Given the description of an element on the screen output the (x, y) to click on. 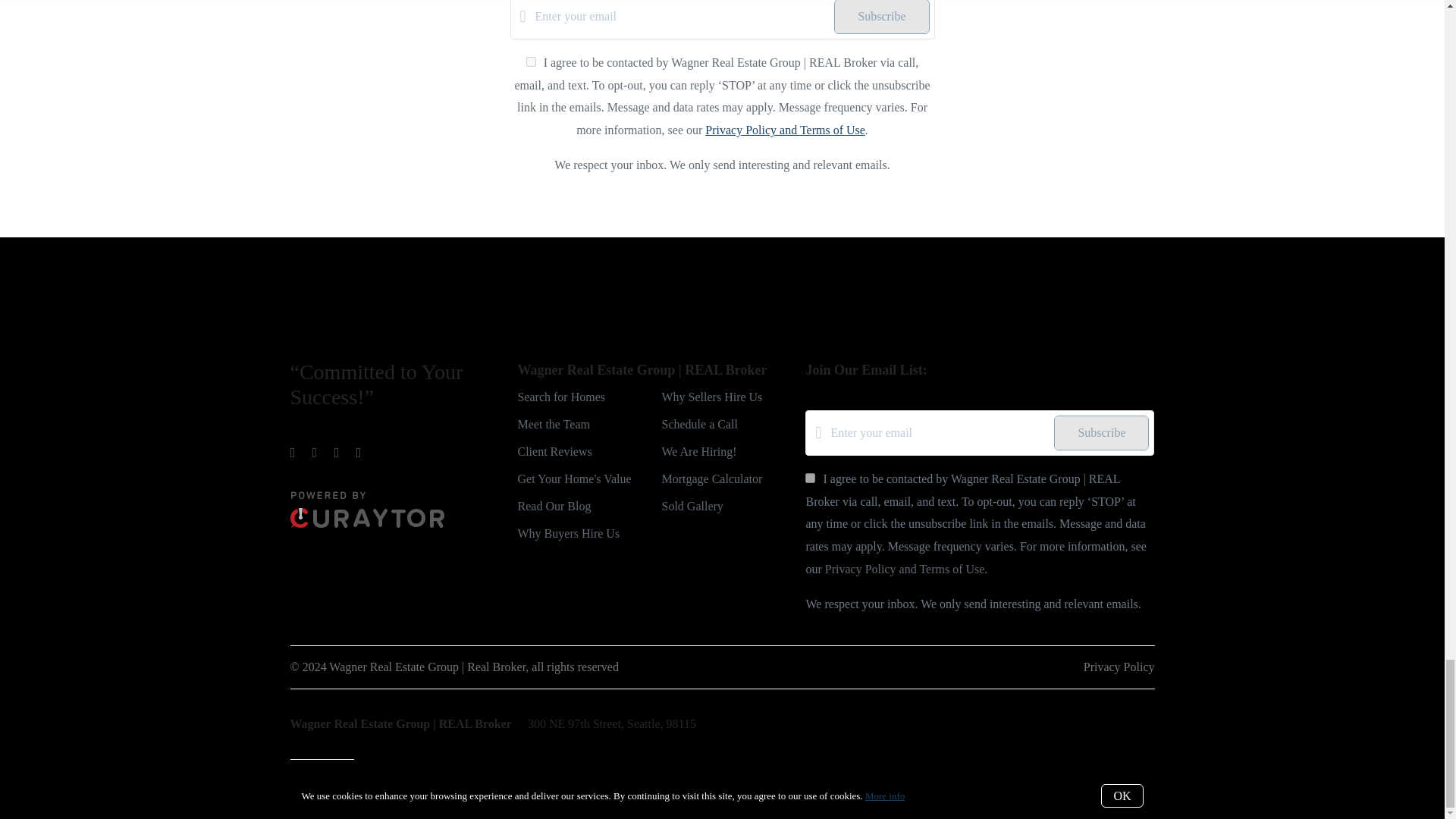
on (810, 478)
Read Our Blog (553, 505)
Search for Homes (560, 396)
Why Buyers Hire Us (568, 533)
curaytor-horizontal (366, 509)
Client Reviews (553, 451)
Why Sellers Hire Us (711, 396)
curaytor-horizontal (366, 522)
on (530, 61)
Schedule a Call (698, 423)
